Given the description of an element on the screen output the (x, y) to click on. 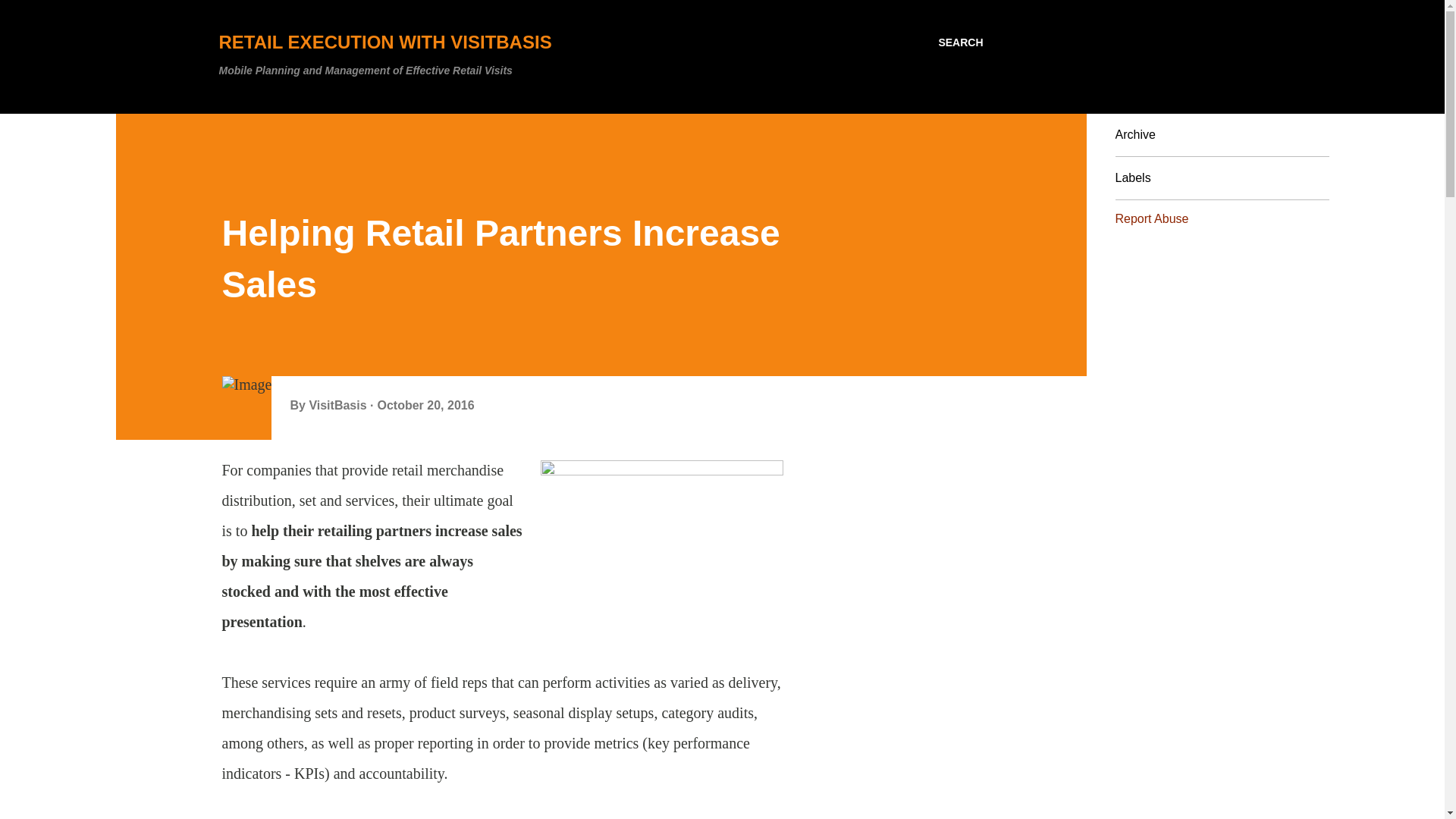
RETAIL EXECUTION WITH VISITBASIS (384, 41)
author profile (338, 404)
October 20, 2016 (425, 404)
permanent link (425, 404)
SEARCH (959, 42)
VisitBasis (338, 404)
